Given the description of an element on the screen output the (x, y) to click on. 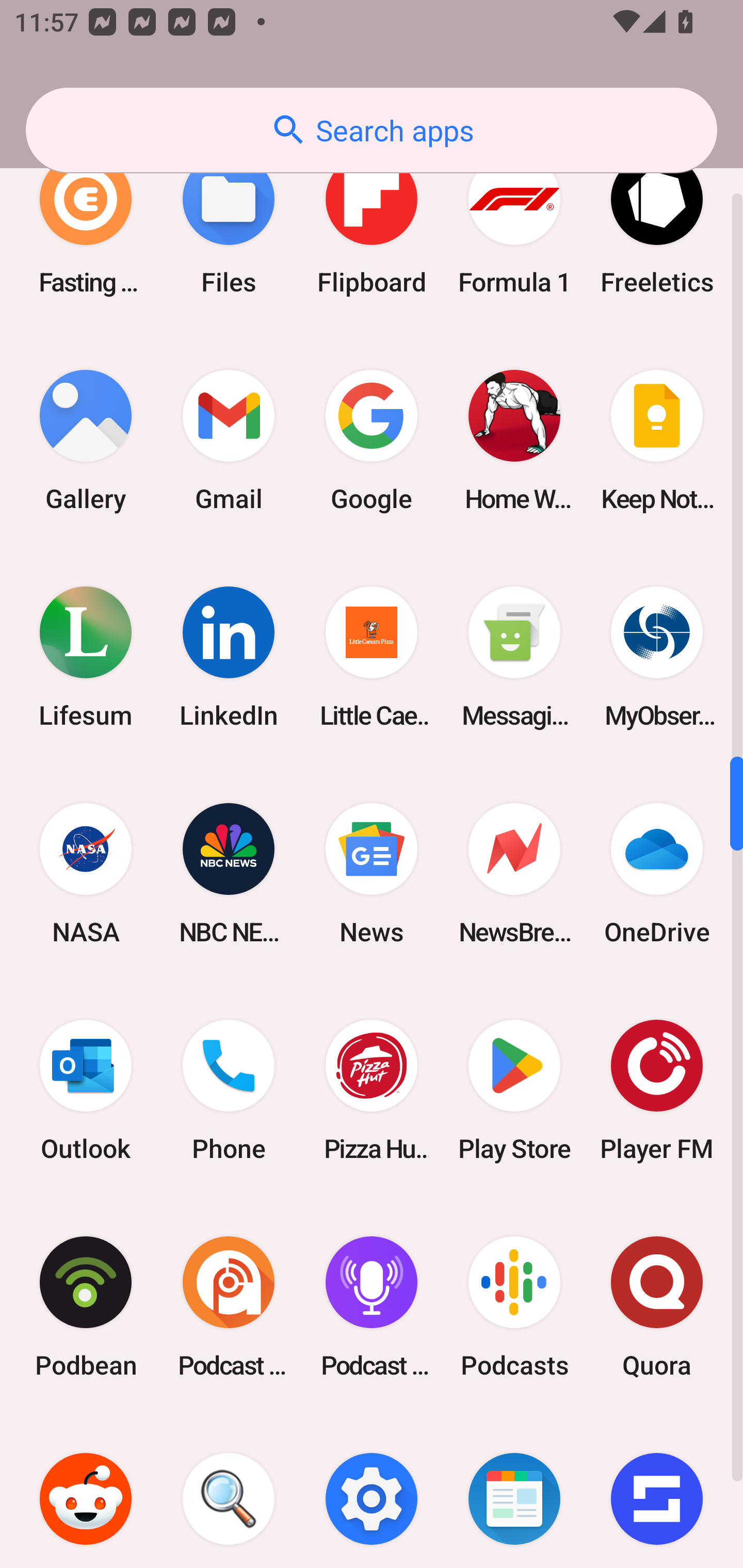
  Search apps (371, 130)
Fasting Coach (85, 224)
Files (228, 224)
Flipboard (371, 224)
Formula 1 (514, 224)
Freeletics (656, 224)
Gallery (85, 440)
Gmail (228, 440)
Google (371, 440)
Home Workout (514, 440)
Keep Notes (656, 440)
Lifesum (85, 656)
LinkedIn (228, 656)
Little Caesars Pizza (371, 656)
Messaging (514, 656)
MyObservatory (656, 656)
NASA (85, 873)
NBC NEWS (228, 873)
News (371, 873)
NewsBreak (514, 873)
OneDrive (656, 873)
Outlook (85, 1089)
Phone (228, 1089)
Pizza Hut HK & Macau (371, 1089)
Play Store (514, 1089)
Player FM (656, 1089)
Podbean (85, 1306)
Podcast Addict (228, 1306)
Podcast Player (371, 1306)
Podcasts (514, 1306)
Quora (656, 1306)
Reddit (85, 1491)
Search (228, 1491)
Settings (371, 1491)
SmartNews (514, 1491)
Sofascore (656, 1491)
